Given the description of an element on the screen output the (x, y) to click on. 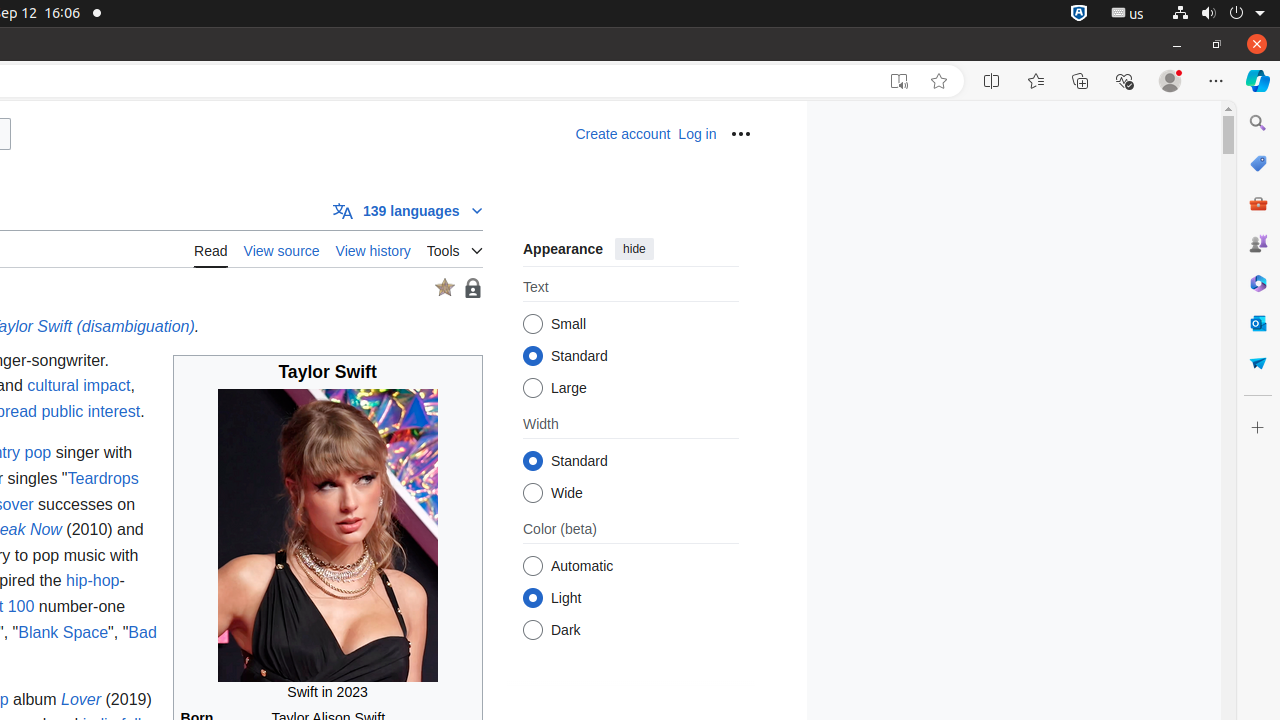
System Element type: menu (1218, 13)
View source Element type: link (281, 248)
Swift glancing towards her left Element type: link (327, 535)
cultural impact Element type: link (79, 386)
Go to an article in another language. Available in 139 languages Element type: push-button (408, 210)
